Given the description of an element on the screen output the (x, y) to click on. 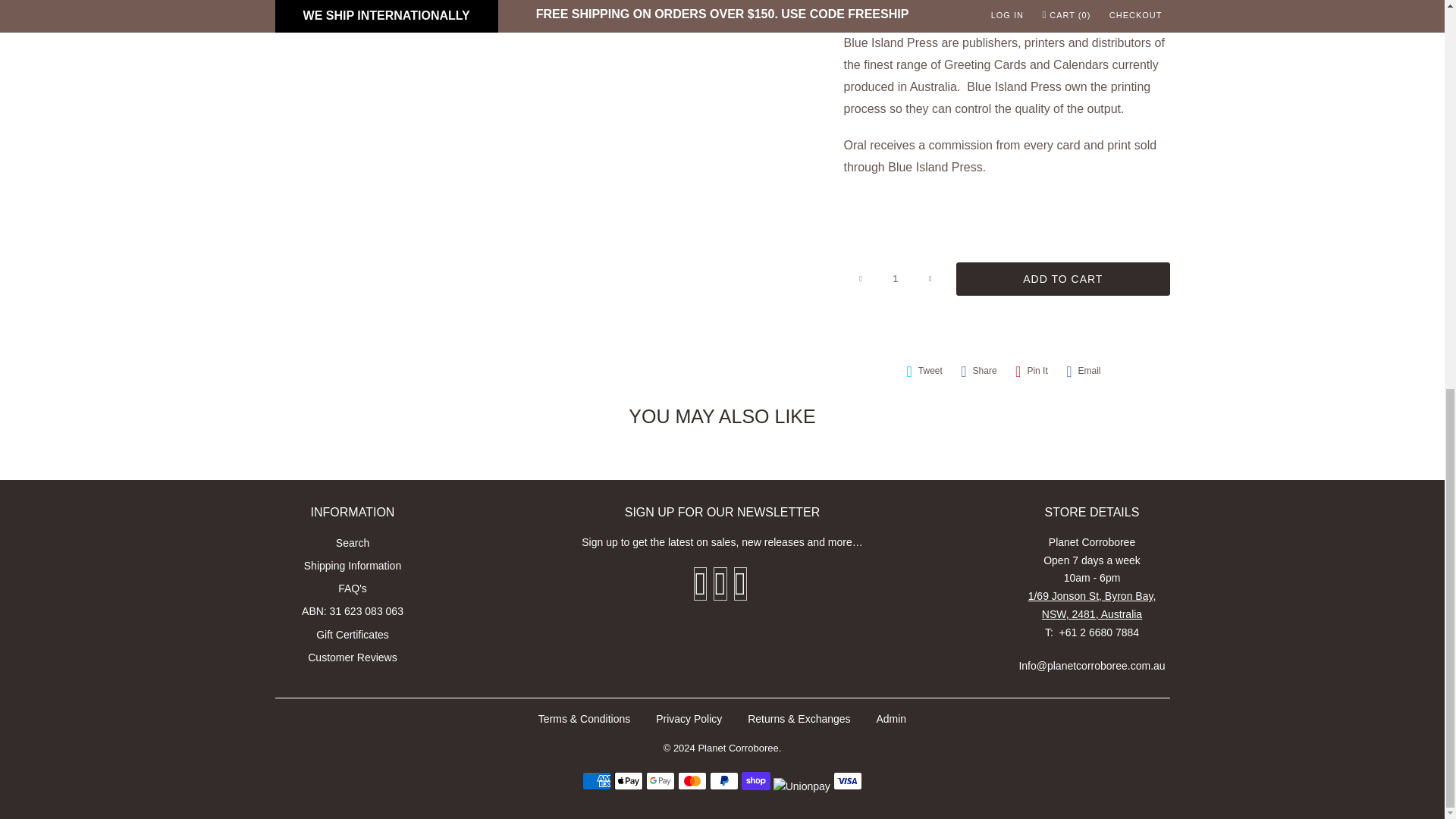
Contact page full details and map (1091, 604)
Email this to a friend (1083, 371)
Share this on Pinterest (1031, 371)
Share this on Facebook (978, 371)
Medium Journal - Rainbow Bee Eaters - Oral Roberts (137, 8)
1 (895, 278)
Share this on Twitter (923, 371)
